Given the description of an element on the screen output the (x, y) to click on. 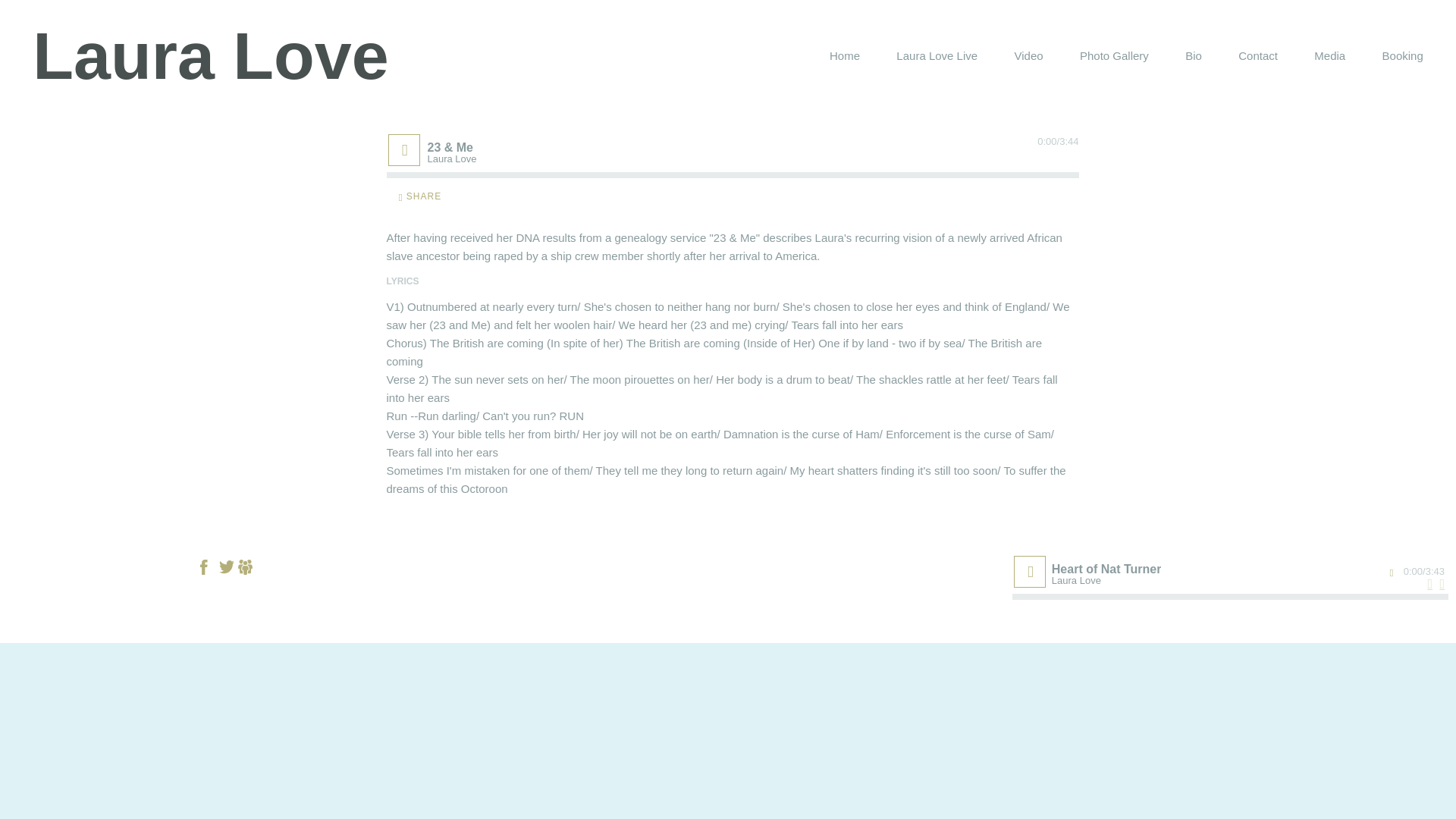
SHARE (420, 196)
Bio (1193, 55)
Laura Love (210, 56)
Media (1329, 55)
Laura Love Live (936, 55)
Video (1027, 55)
Home (844, 55)
Photo Gallery (1114, 55)
Contact (1258, 55)
Booking (1402, 55)
